Given the description of an element on the screen output the (x, y) to click on. 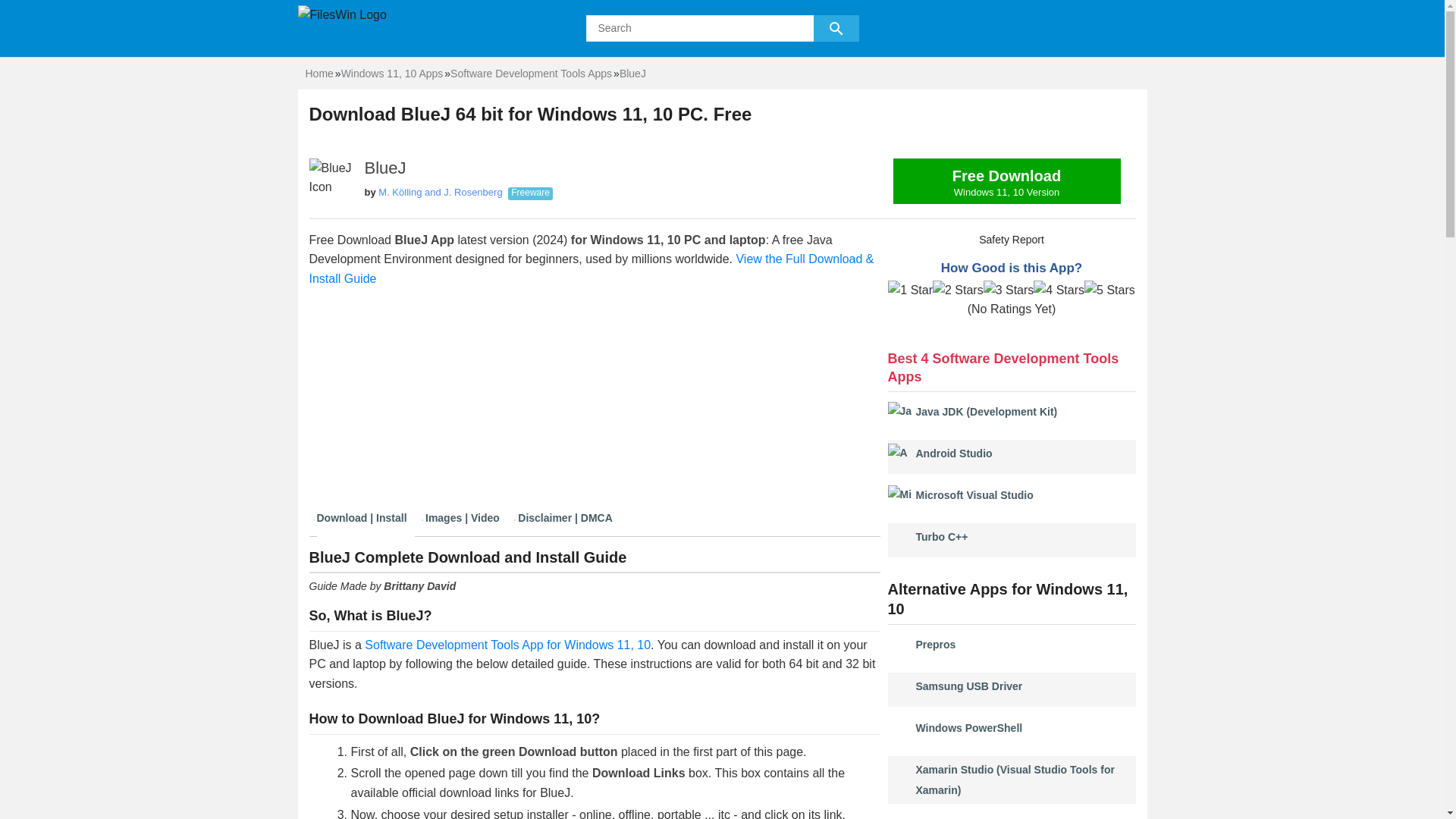
4 Stars (1007, 185)
Samsung USB Driver (1058, 290)
Software Development Tools Apps (969, 686)
Windows 11, 10 Apps (530, 73)
Android Studio (1007, 180)
3 Stars (392, 73)
Software Development Tools App for Windows 11, 10 (953, 453)
2 Stars (1008, 290)
Microsoft Visual Studio (507, 644)
Software Development Tools App for Windows 11, 10 (958, 290)
Home (974, 494)
FilesWin (507, 644)
Windows 11, 10 Apps (318, 73)
